Given the description of an element on the screen output the (x, y) to click on. 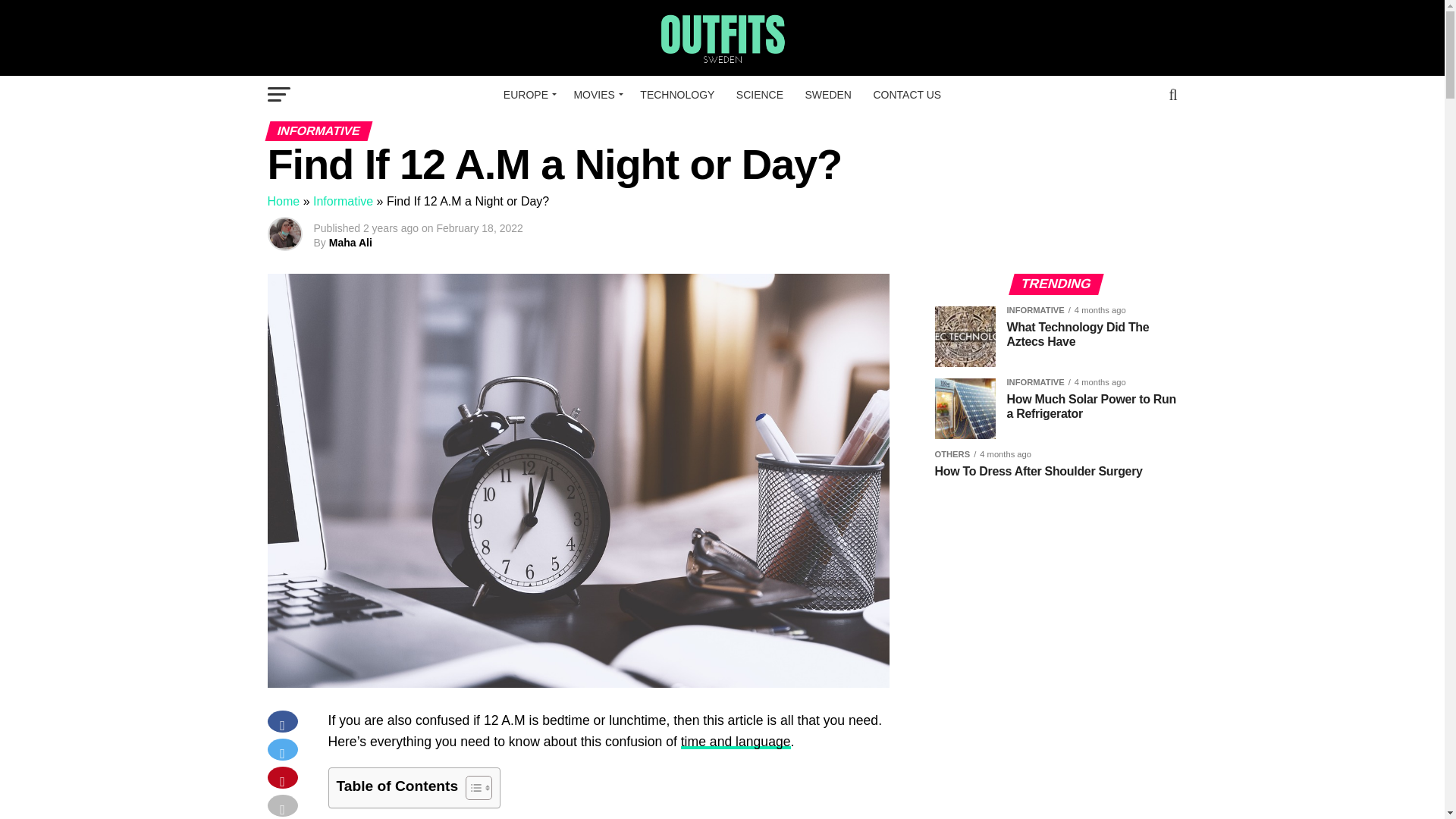
Posts by Maha Ali (350, 242)
Home (282, 201)
EUROPE (527, 94)
MOVIES (595, 94)
SCIENCE (759, 94)
CONTACT US (906, 94)
SWEDEN (828, 94)
Informative (342, 201)
time and language (735, 741)
TECHNOLOGY (676, 94)
Maha Ali (350, 242)
